Given the description of an element on the screen output the (x, y) to click on. 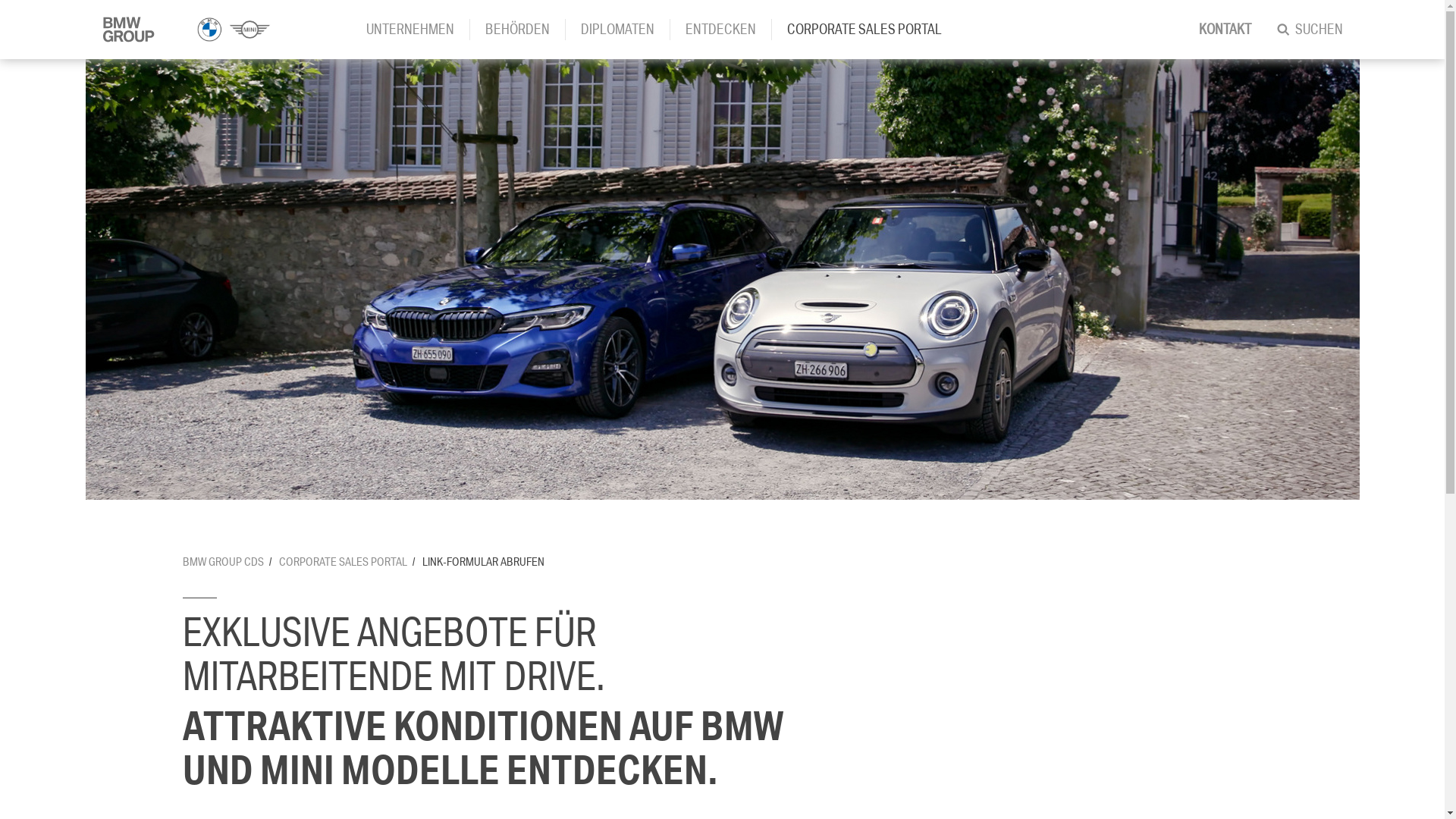
SUCHEN Element type: text (1320, 29)
BMW GROUP CDS Element type: text (222, 562)
KONTAKT Element type: text (1231, 29)
DIPLOMATEN Element type: text (625, 29)
CORPORATE SALES PORTAL Element type: text (872, 29)
UNTERNEHMEN Element type: text (417, 29)
CORPORATE SALES PORTAL Element type: text (343, 562)
ENTDECKEN Element type: text (728, 29)
